Given the description of an element on the screen output the (x, y) to click on. 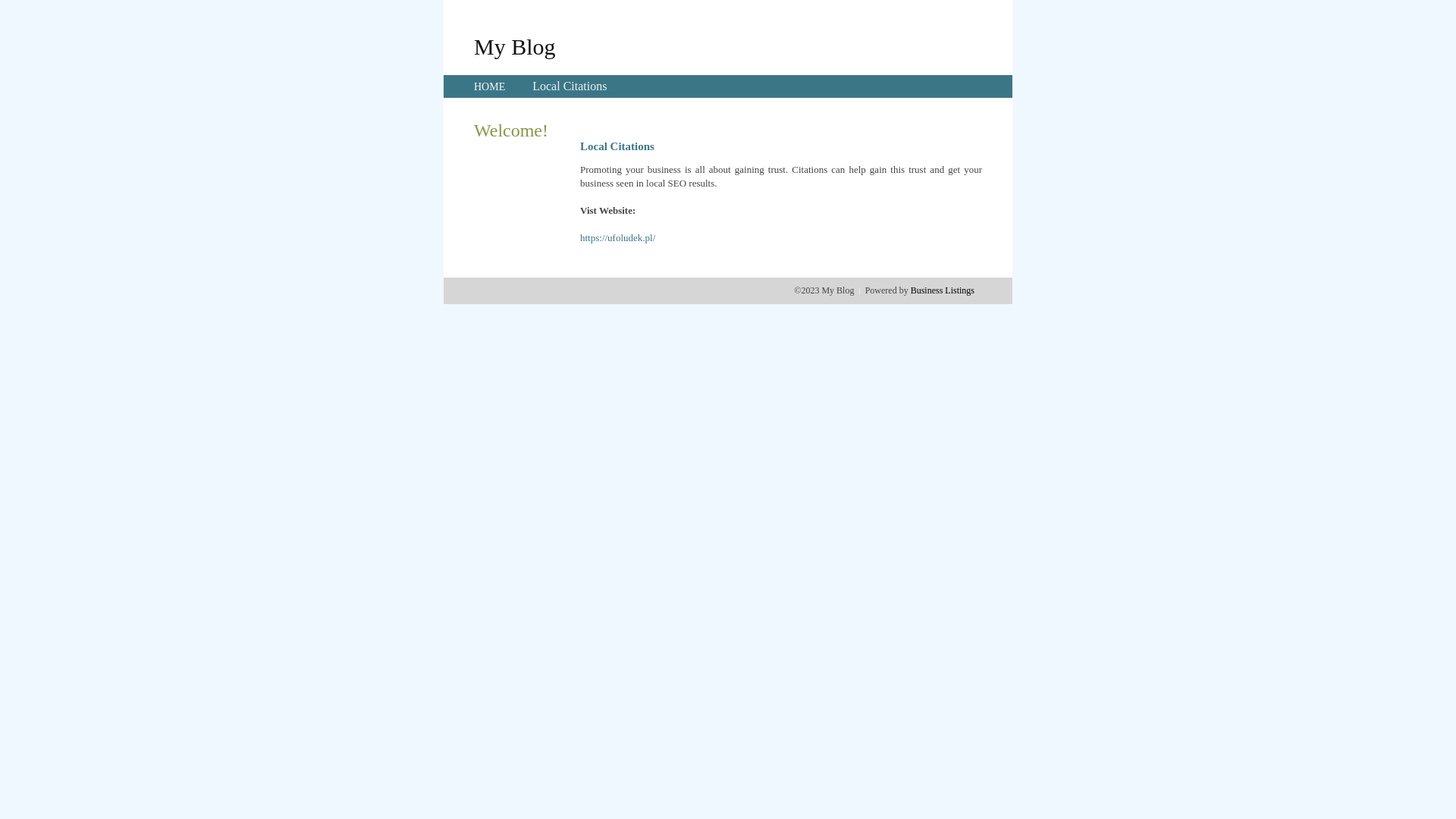
https://ufoludek.pl/ Element type: text (617, 237)
Business Listings Element type: text (942, 290)
HOME Element type: text (489, 86)
Local Citations Element type: text (569, 85)
My Blog Element type: text (514, 46)
